Given the description of an element on the screen output the (x, y) to click on. 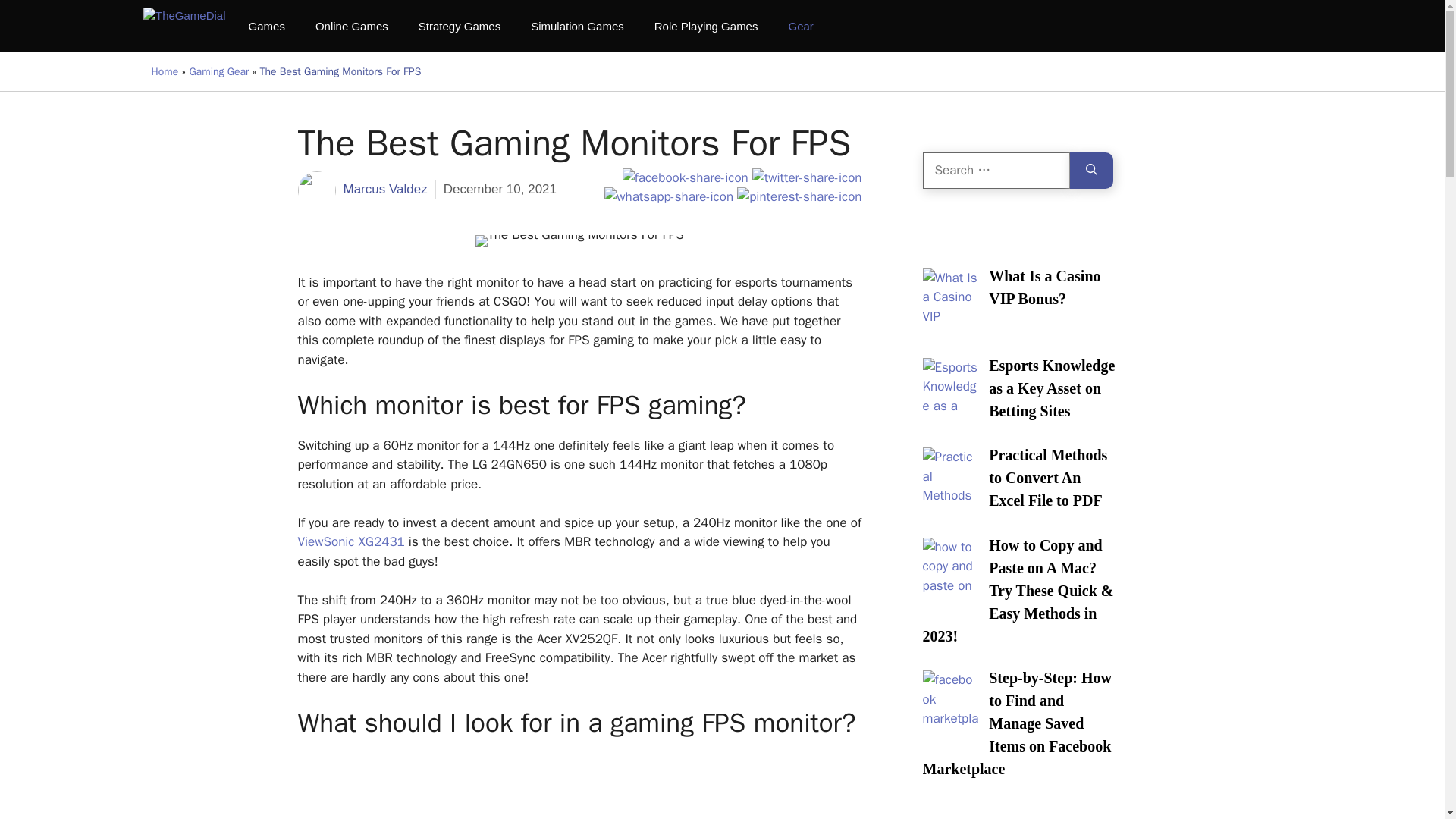
ViewSonic XG2431 (350, 541)
Strategy Games (459, 25)
Tweet this (806, 177)
View all posts by Marcus Valdez (384, 188)
Simulation Games (577, 25)
Marcus Valdez (384, 188)
Role Playing Games (706, 25)
Gaming Gear (218, 71)
Gear (800, 25)
Share on Pinterest (798, 196)
